Given the description of an element on the screen output the (x, y) to click on. 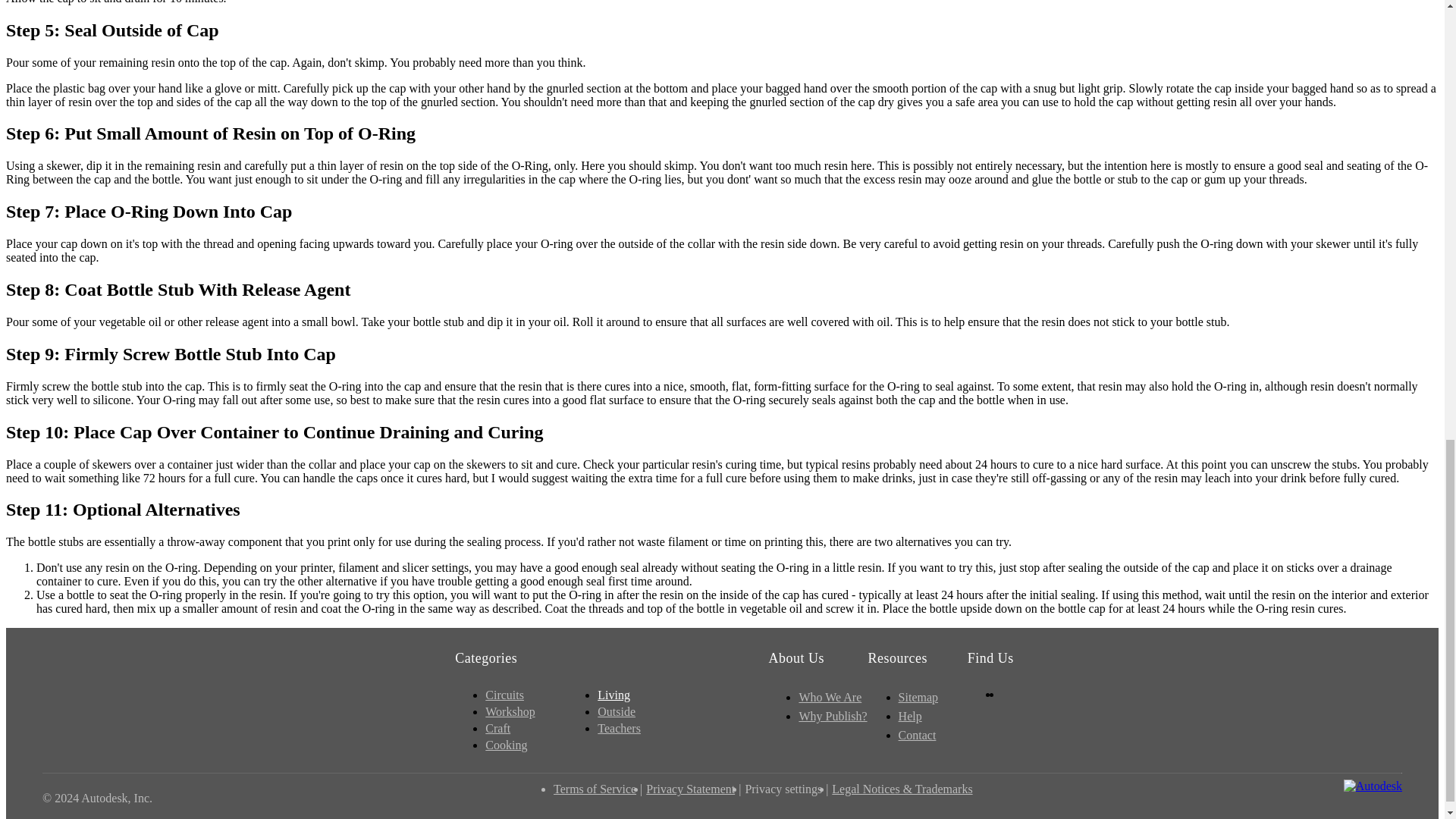
Teachers (618, 729)
Circuits (504, 695)
Workshop (509, 712)
Terms of Service (594, 788)
Cooking (505, 745)
Sitemap (917, 696)
Help (909, 715)
Who We Are (829, 696)
Outside (615, 712)
Living (613, 695)
